Given the description of an element on the screen output the (x, y) to click on. 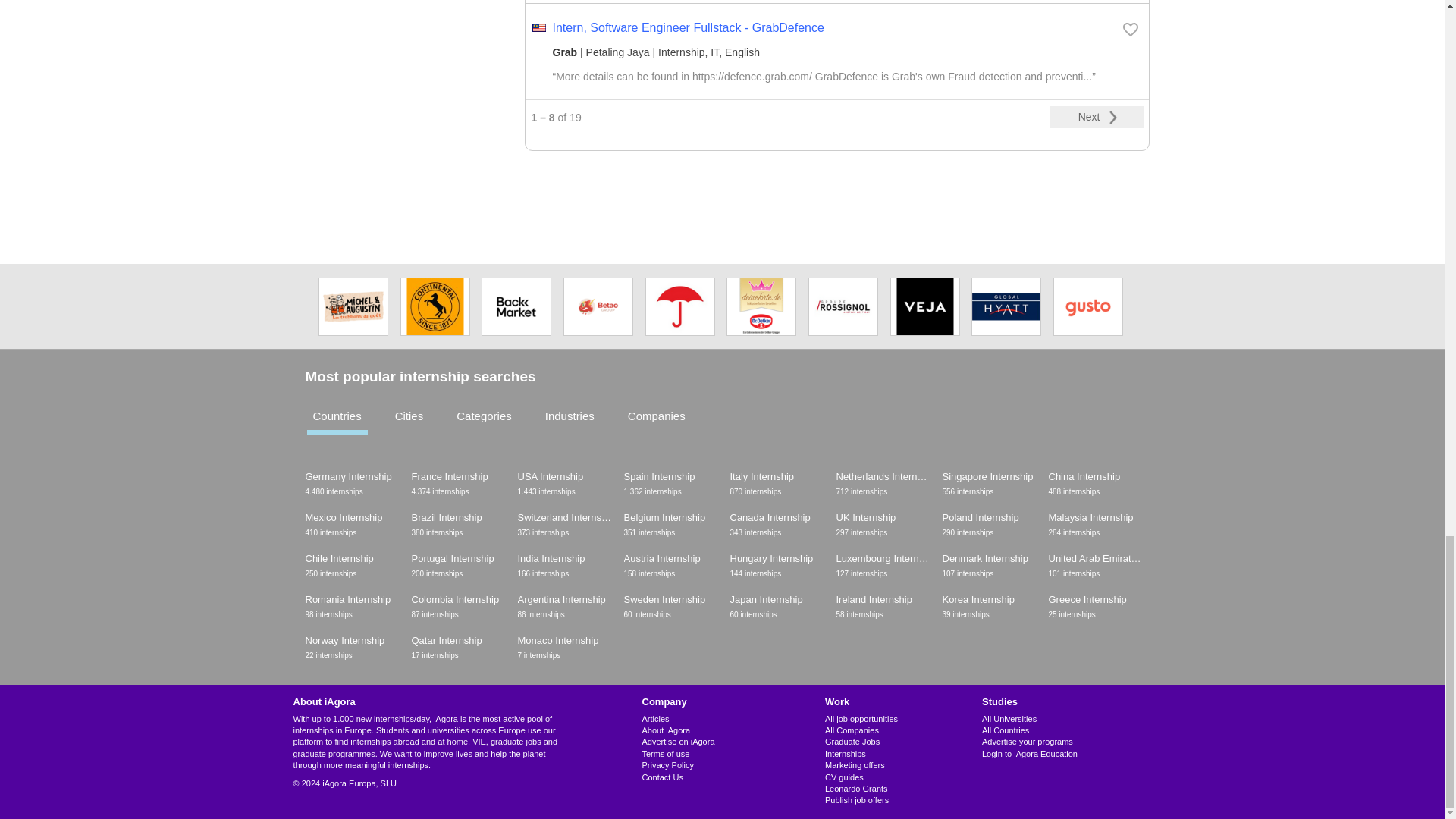
Next (721, 429)
Grab (1095, 116)
